Given the description of an element on the screen output the (x, y) to click on. 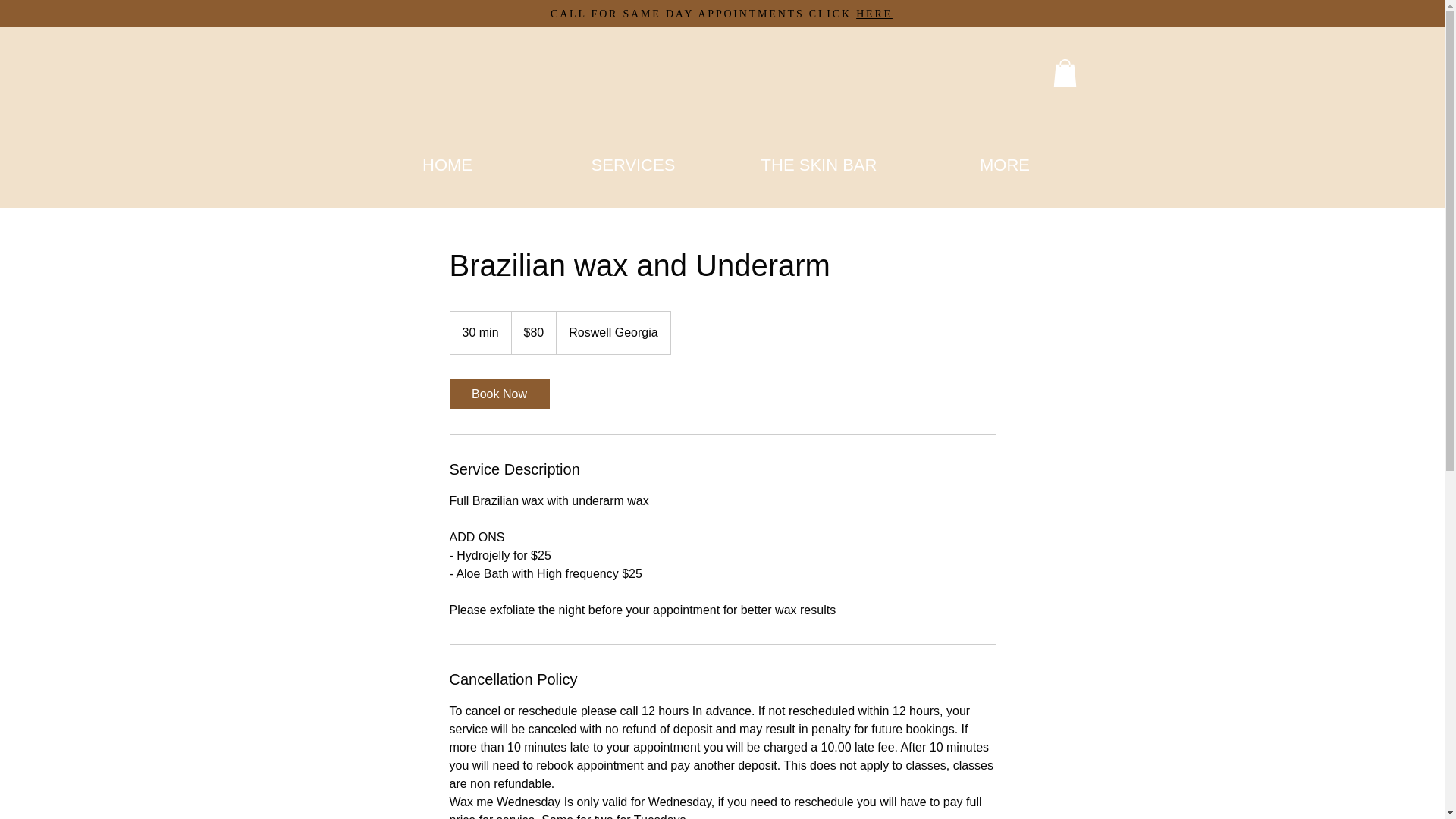
SERVICES (632, 164)
Book Now (498, 394)
HOME (447, 164)
THE SKIN BAR (819, 164)
HERE (874, 13)
